Given the description of an element on the screen output the (x, y) to click on. 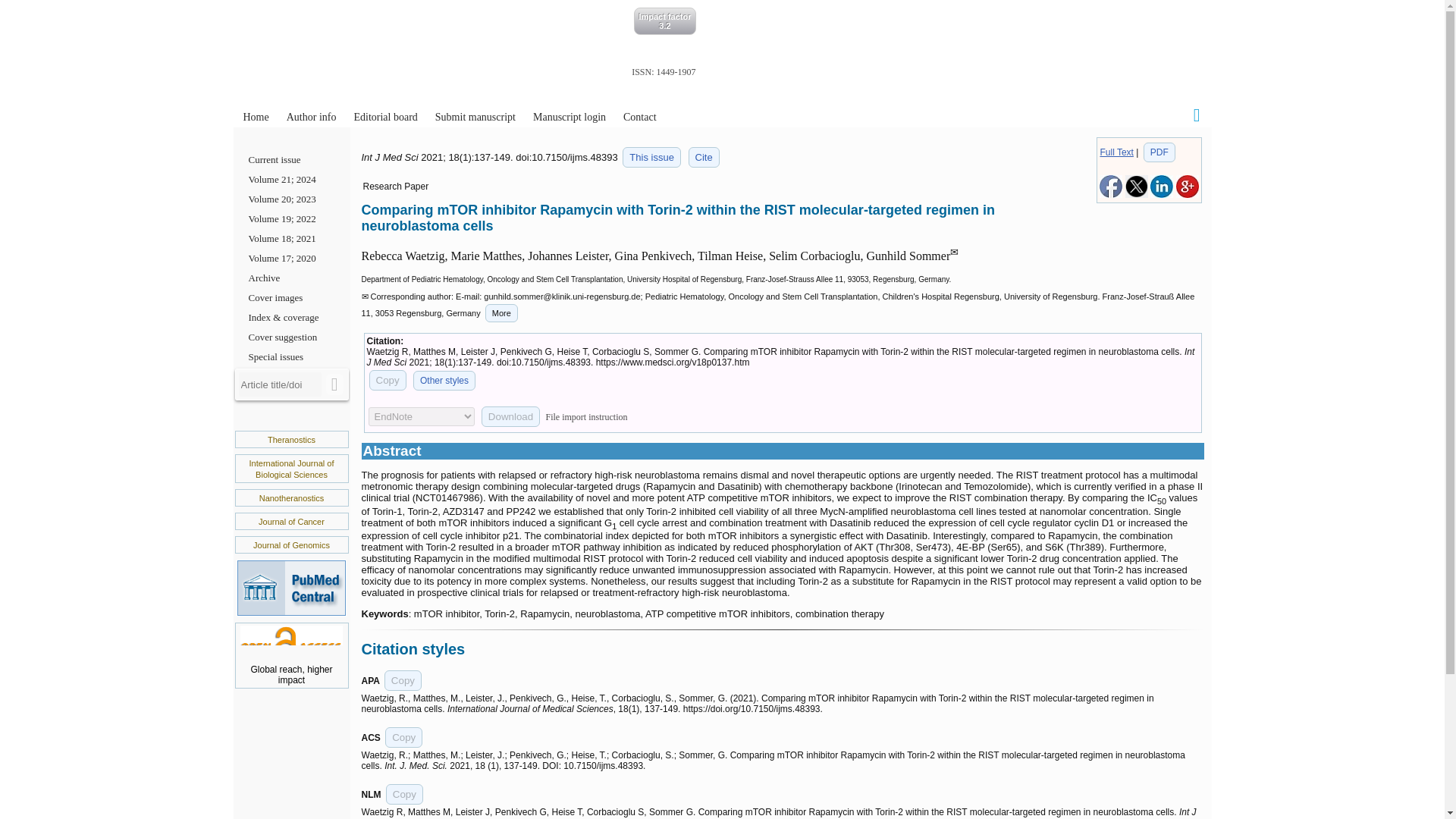
Copy to clipboard (403, 680)
Journal of Cancer (291, 521)
Full Text (1115, 152)
Download a file for citation software (510, 416)
Cover images (291, 297)
Archive (291, 278)
Copy (403, 680)
Volume 19; 2022 (291, 219)
Copy to clipboard (404, 793)
This issue (652, 157)
